Given the description of an element on the screen output the (x, y) to click on. 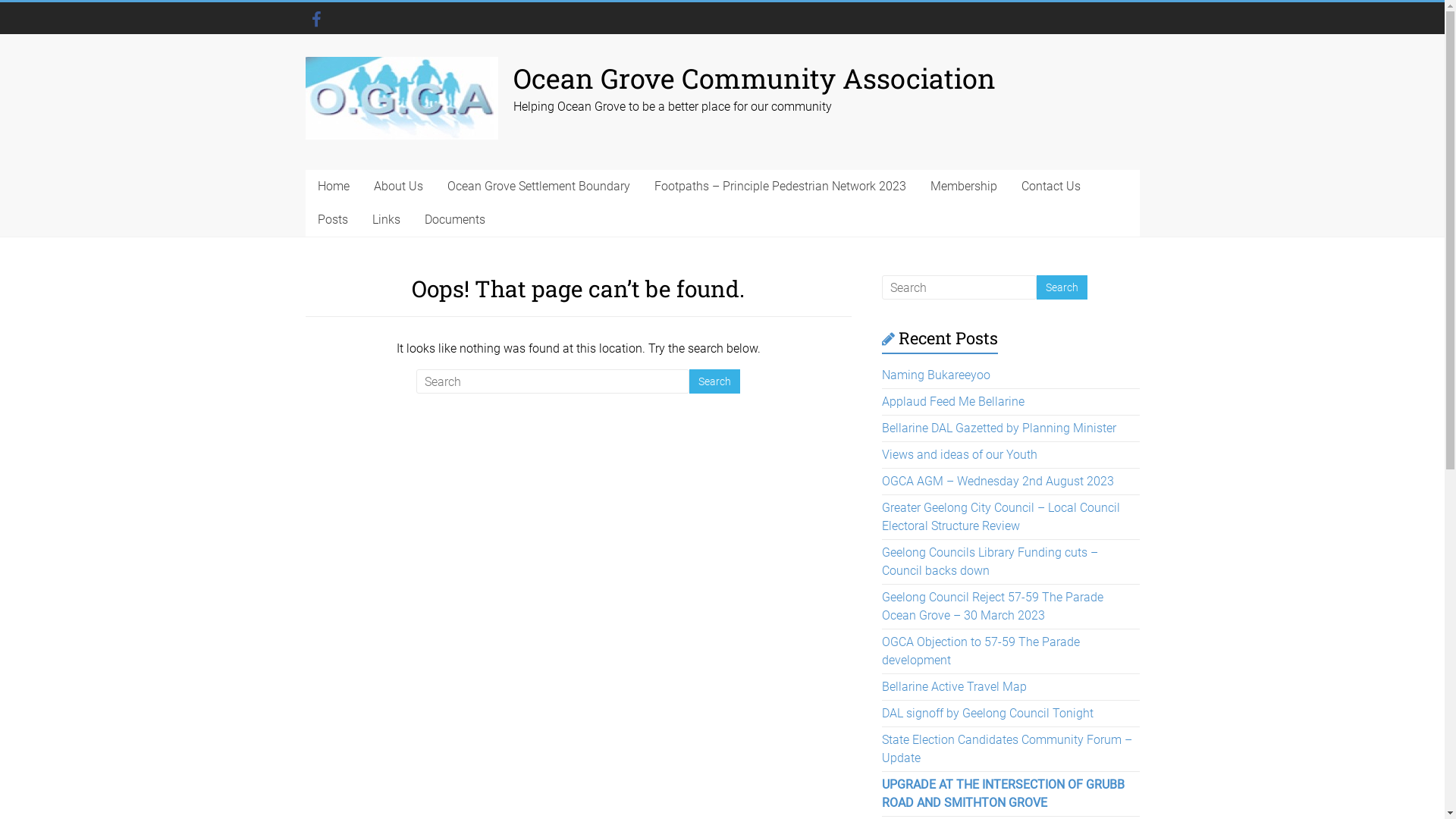
Contact Us Element type: text (1050, 186)
UPGRADE AT THE INTERSECTION OF GRUBB ROAD AND SMITHTON GROVE Element type: text (1002, 793)
OGCA Objection to 57-59 The Parade development Element type: text (980, 650)
Membership Element type: text (962, 186)
Posts Element type: text (331, 219)
Search Element type: text (714, 381)
Bellarine Active Travel Map Element type: text (953, 686)
Views and ideas of our Youth Element type: text (959, 454)
Applaud Feed Me Bellarine Element type: text (952, 401)
Bellarine DAL Gazetted by Planning Minister Element type: text (998, 427)
Ocean Grove Settlement Boundary Element type: text (538, 186)
Home Element type: text (332, 186)
Search Element type: text (1060, 287)
Naming Bukareeyoo Element type: text (935, 374)
About Us Element type: text (397, 186)
DAL signoff by Geelong Council Tonight Element type: text (987, 713)
Links Element type: text (385, 219)
Ocean Grove Community Association Element type: text (753, 77)
Documents Element type: text (454, 219)
